Given the description of an element on the screen output the (x, y) to click on. 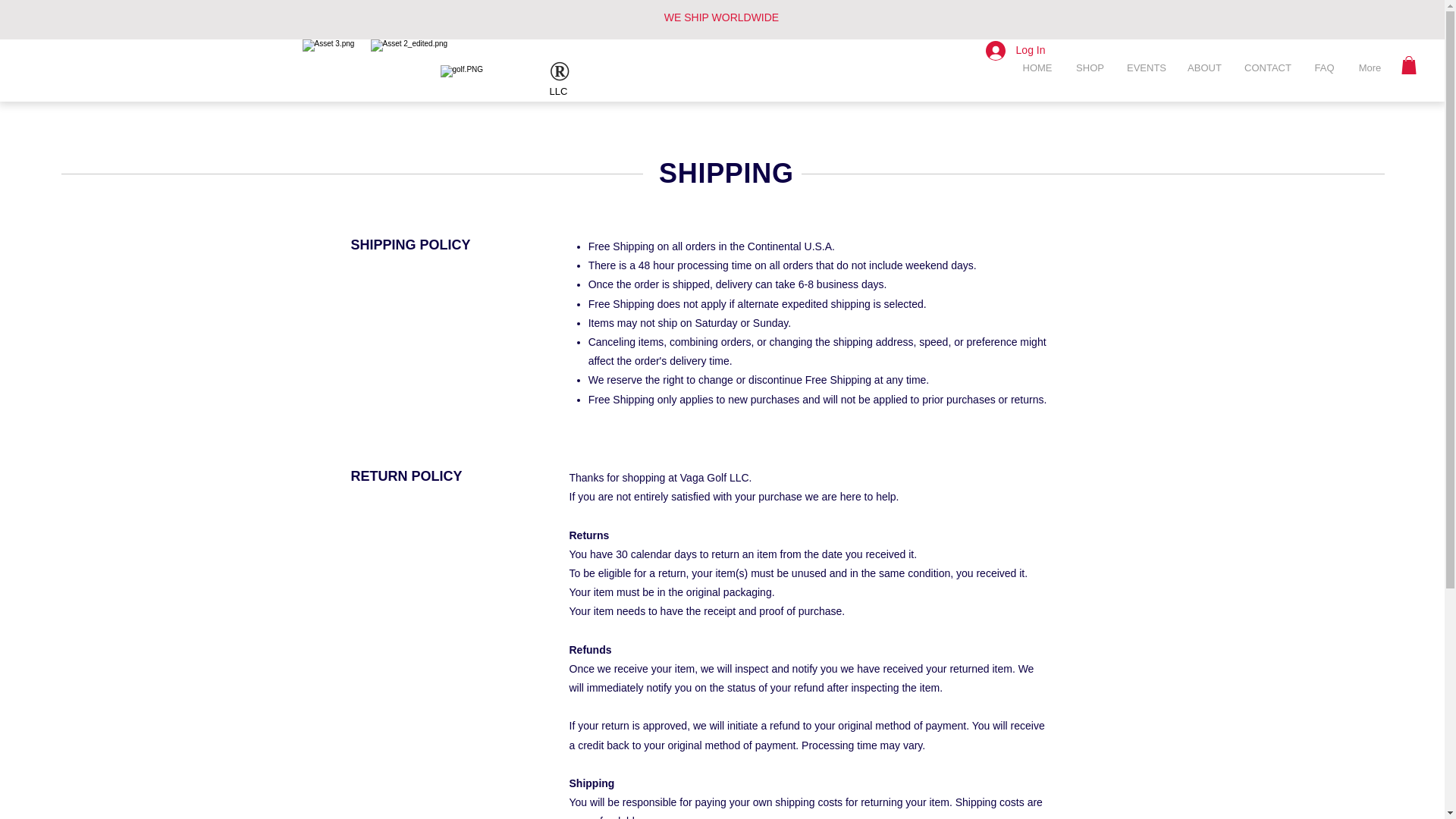
Log In (1016, 50)
FAQ (1324, 67)
ABOUT (1204, 67)
CONTACT (1268, 67)
HOME (1037, 67)
EVENTS (1145, 67)
WE SHIP WORLDWIDE (720, 17)
SHOP (1089, 67)
